Given the description of an element on the screen output the (x, y) to click on. 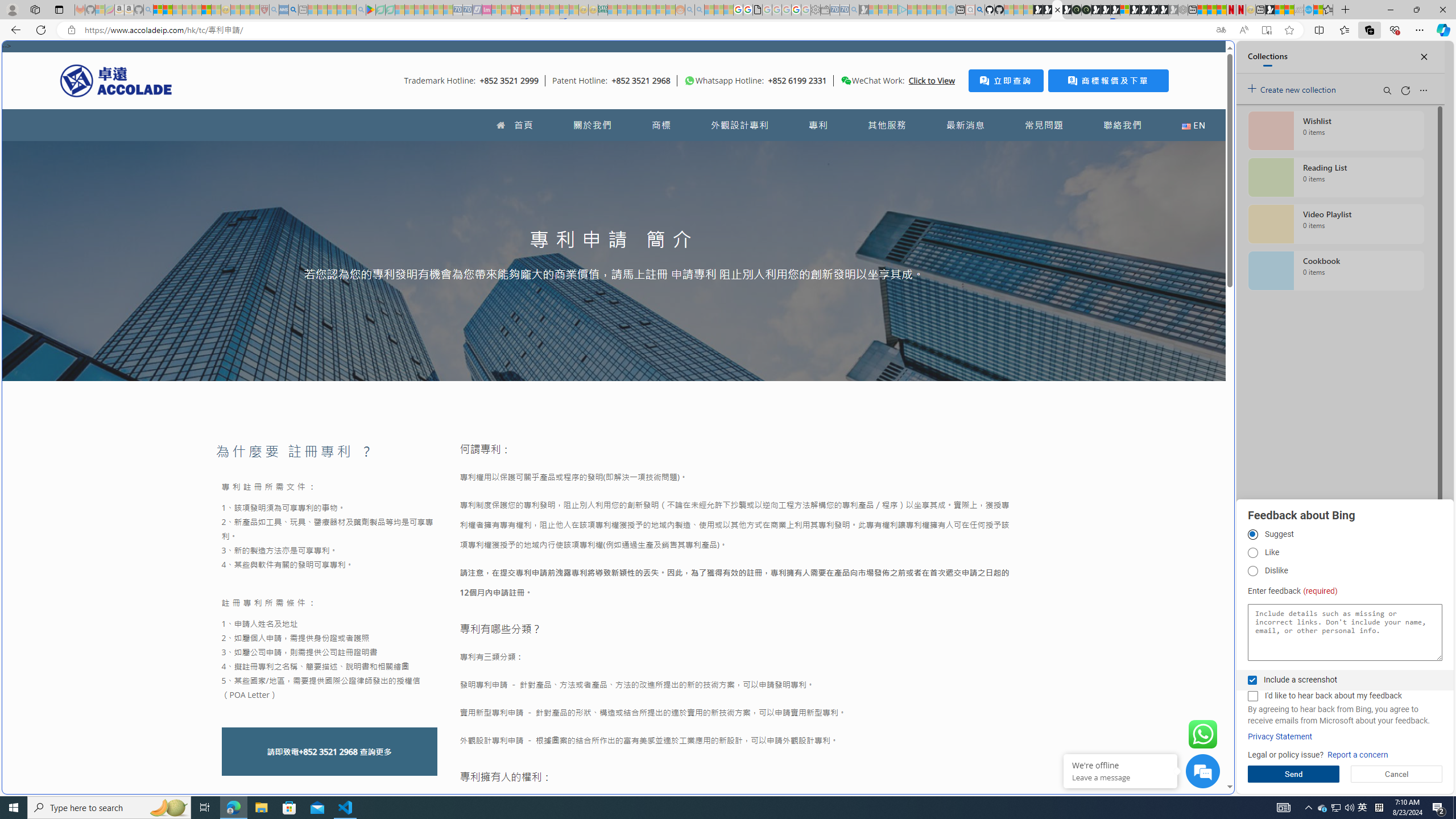
Bluey: Let's Play! - Apps on Google Play (370, 9)
